Given the description of an element on the screen output the (x, y) to click on. 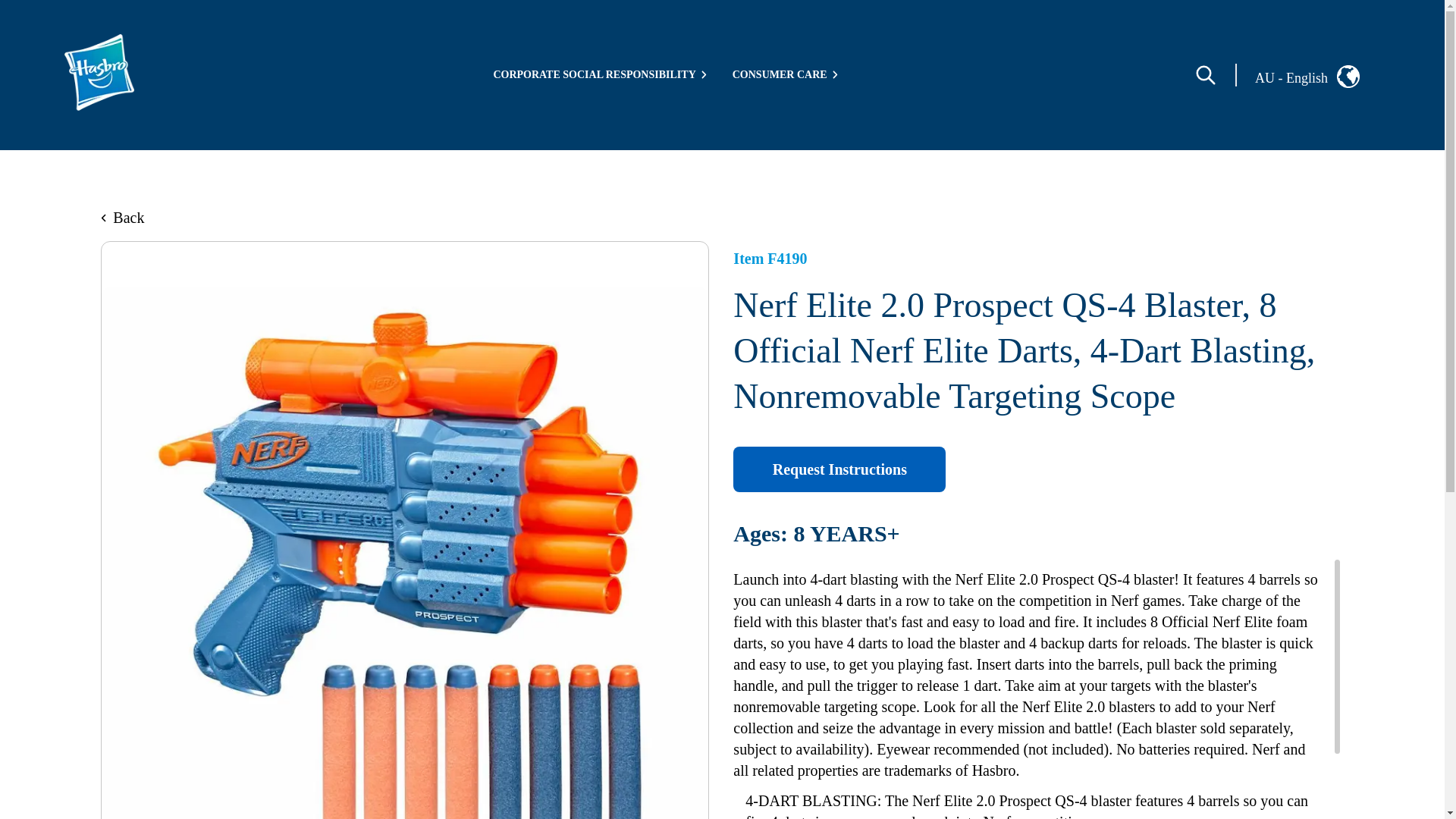
Request Instructions (838, 469)
AU - English (1319, 74)
